Given the description of an element on the screen output the (x, y) to click on. 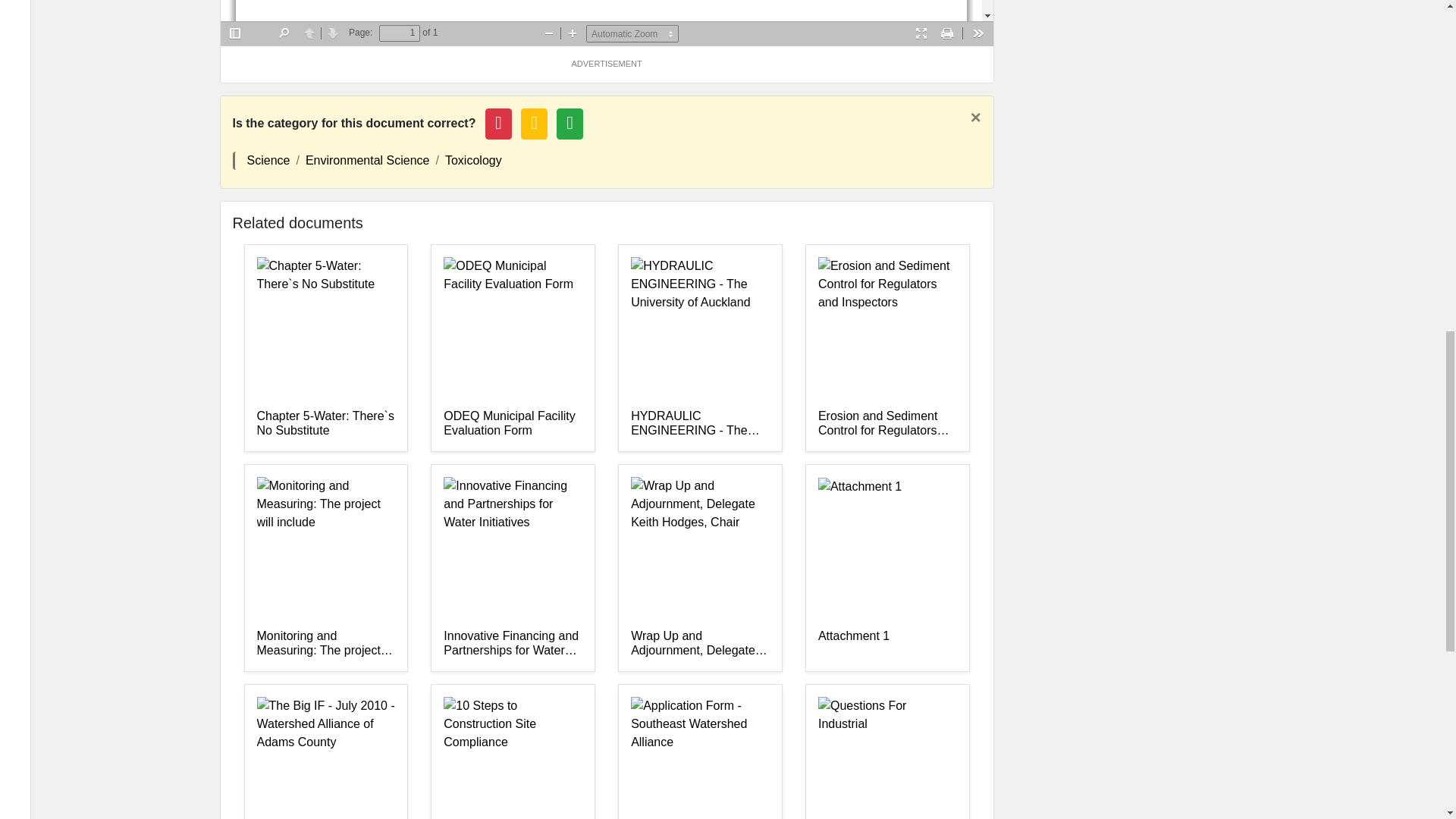
HYDRAULIC ENGINEERING - The University of Auckland (700, 423)
Attachment 1 (887, 643)
ODEQ Municipal Facility Evaluation Form (513, 423)
Erosion and Sediment Control for Regulators and Inspectors (887, 423)
Innovative Financing and Partnerships for Water Initiatives (513, 643)
Science (268, 160)
Toxicology (473, 160)
ODEQ Municipal Facility Evaluation Form (513, 423)
Environmental Science (367, 160)
HYDRAULIC ENGINEERING - The University of Auckland (700, 423)
Wrap Up and Adjournment, Delegate Keith Hodges, Chair (700, 643)
Monitoring and Measuring: The project will include (325, 643)
